Given the description of an element on the screen output the (x, y) to click on. 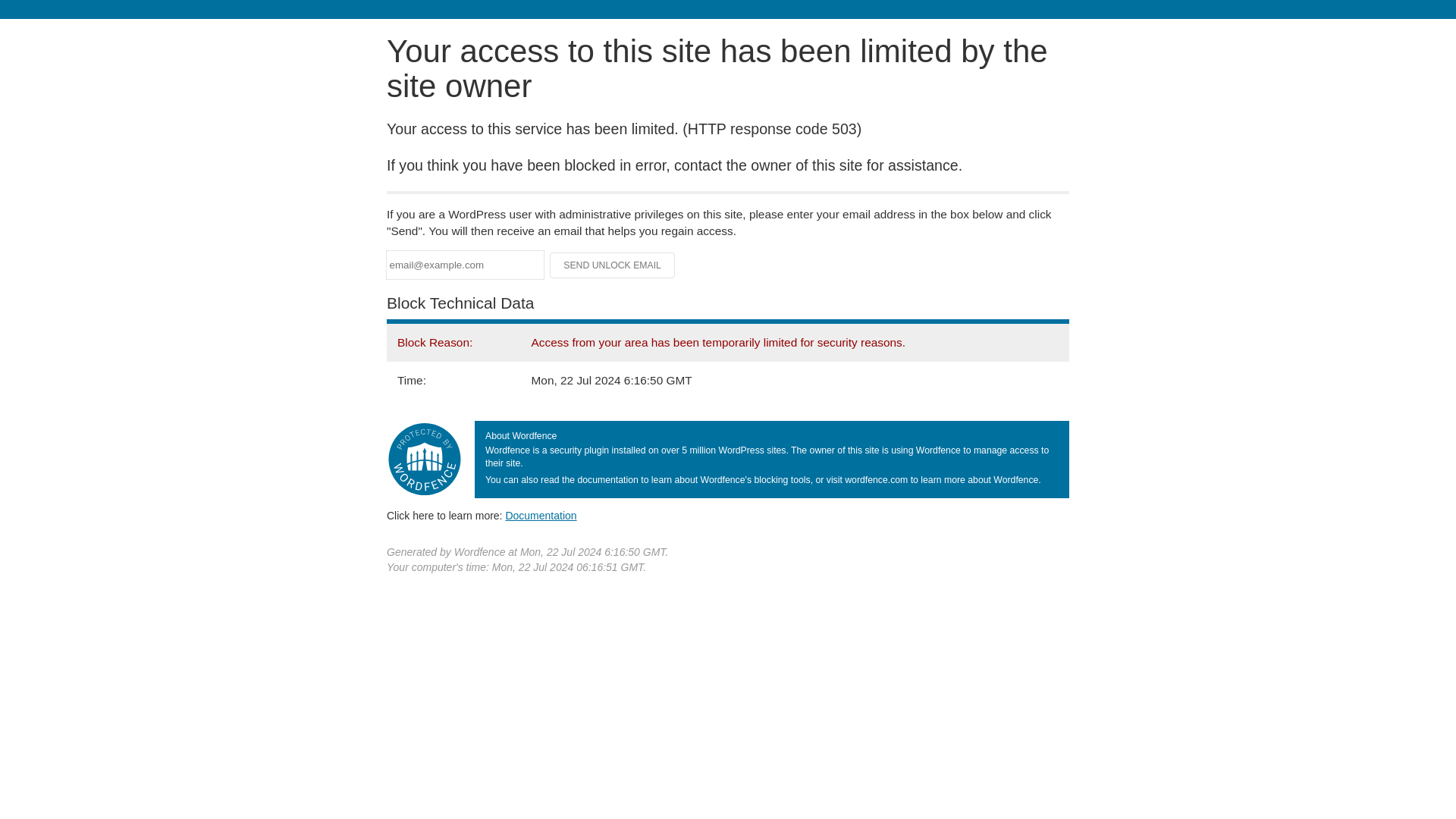
Documentation (540, 515)
Send Unlock Email (612, 265)
Send Unlock Email (612, 265)
